Given the description of an element on the screen output the (x, y) to click on. 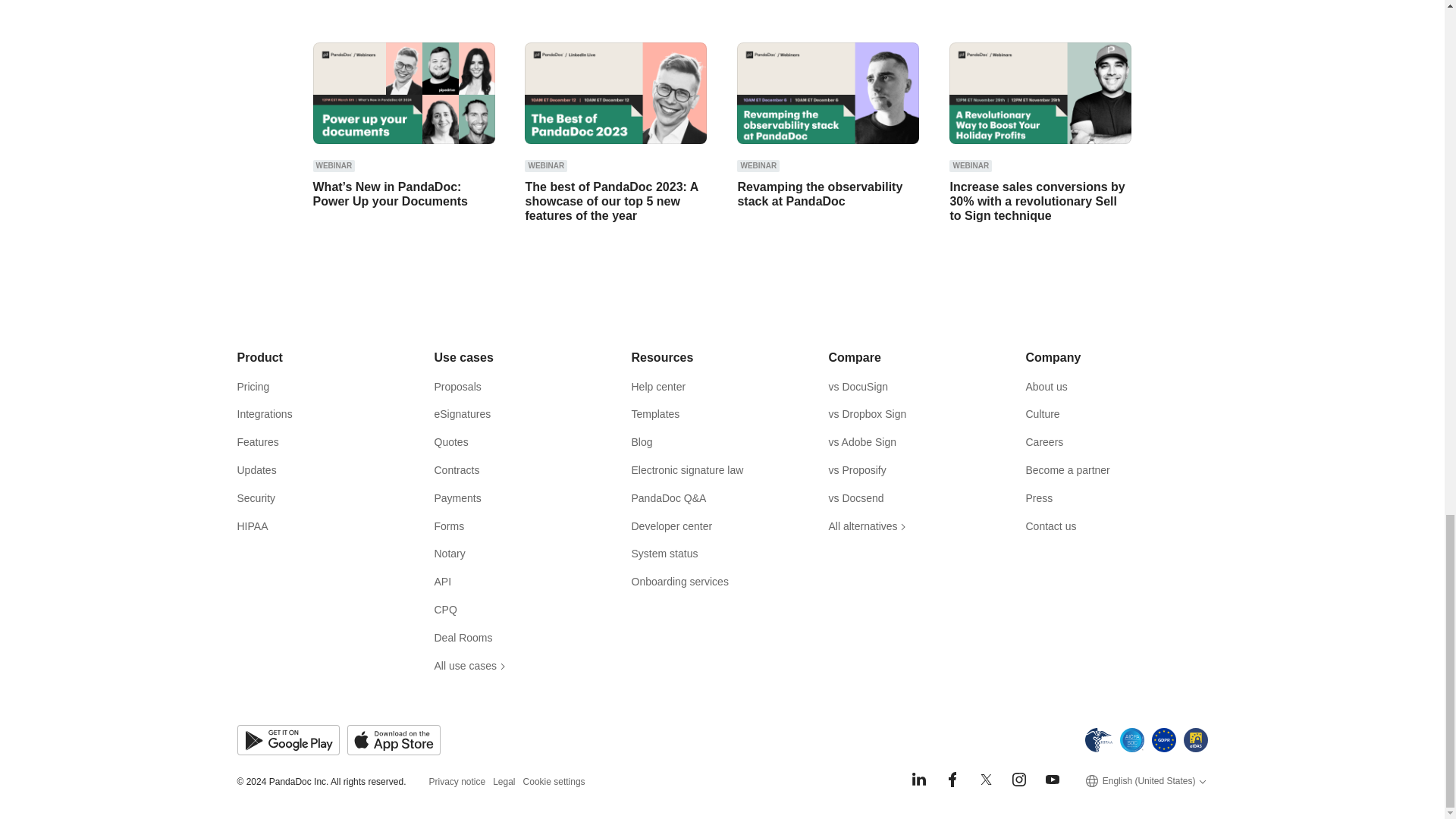
LinkedIn (919, 779)
Youtube (1052, 779)
Instagram (1018, 779)
Facebook (951, 779)
Twitter (985, 779)
